Given the description of an element on the screen output the (x, y) to click on. 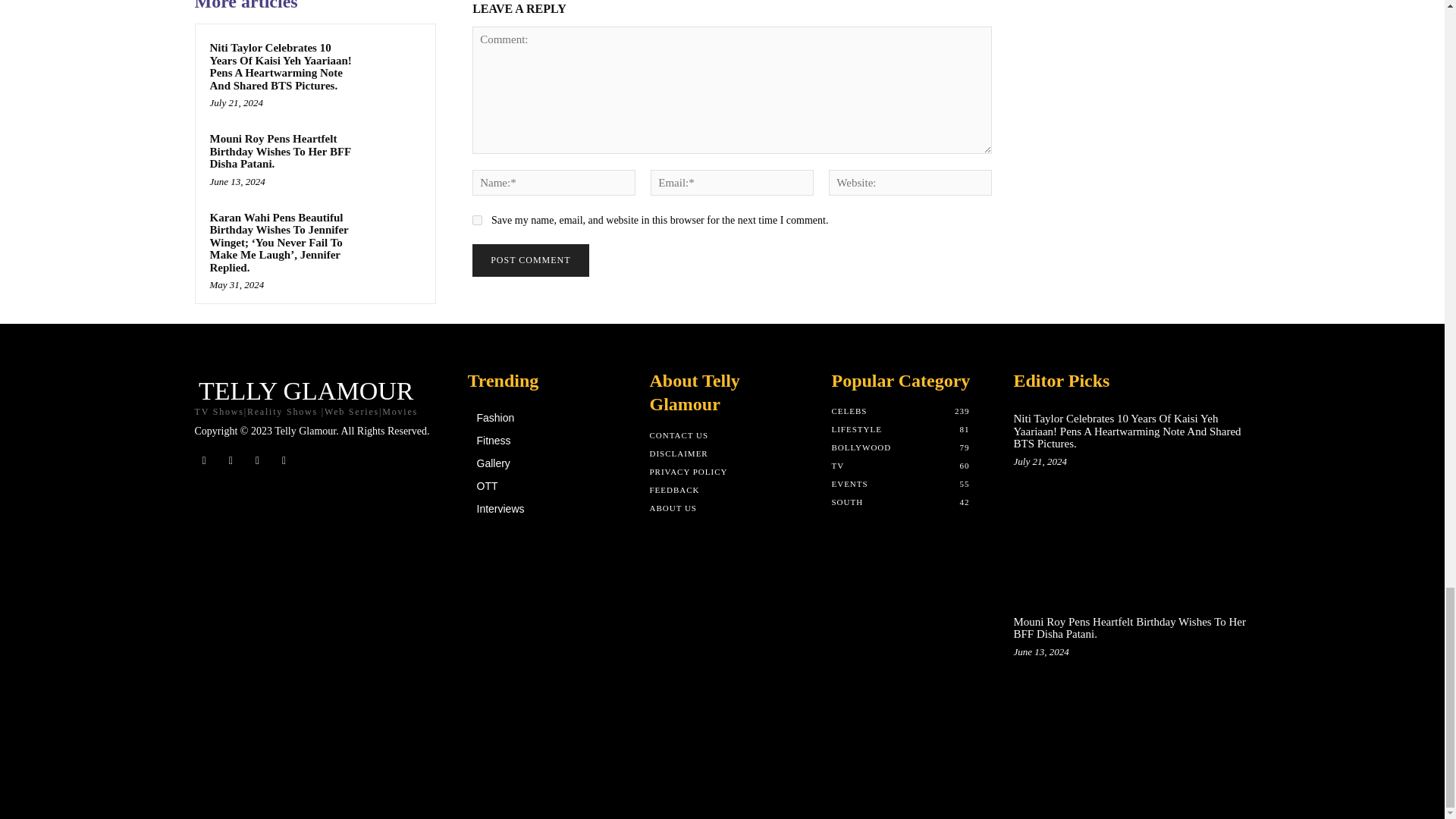
Post Comment (529, 260)
yes (476, 220)
